Given the description of an element on the screen output the (x, y) to click on. 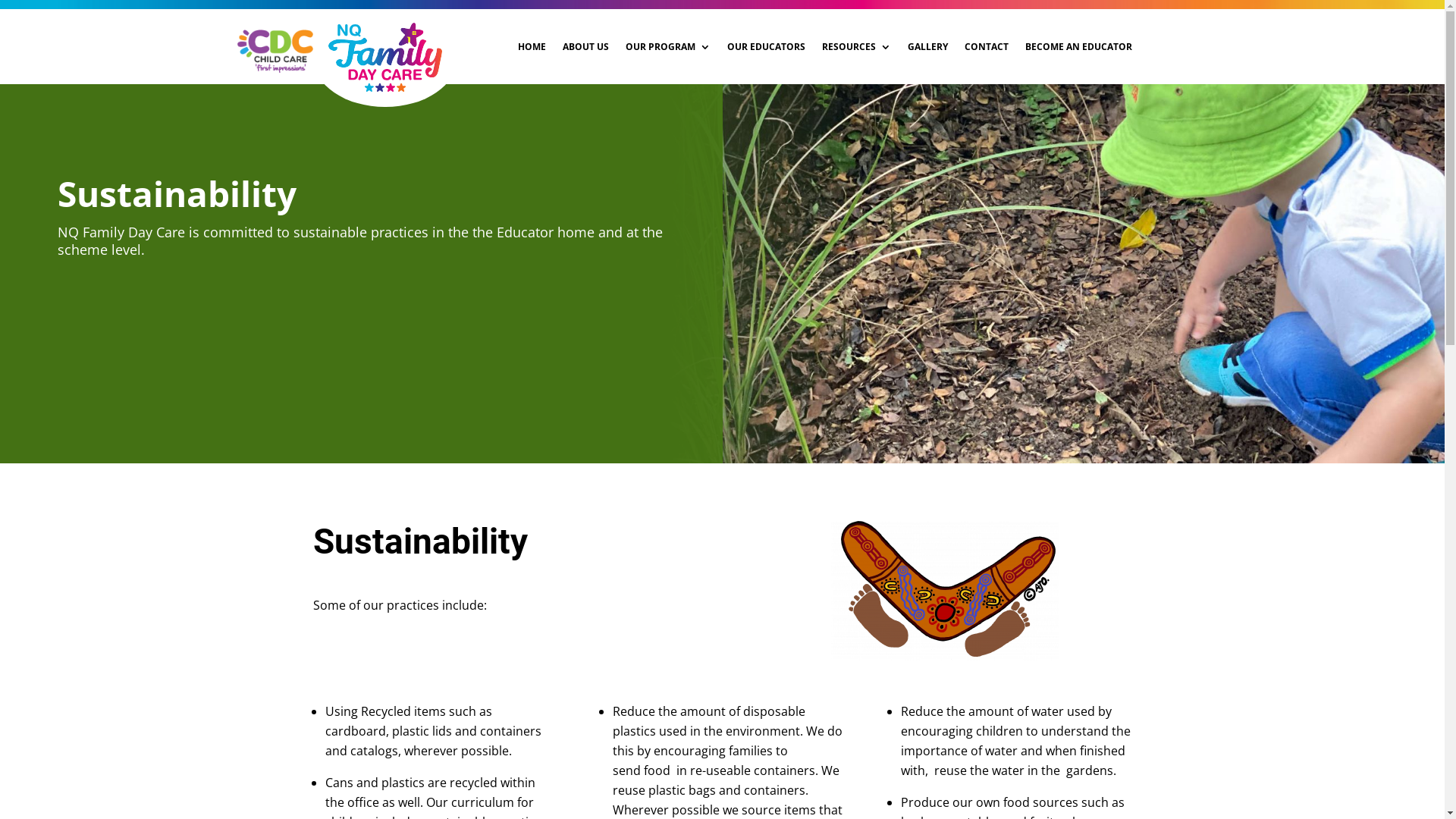
ABOUT US Element type: text (585, 46)
OUR EDUCATORS Element type: text (765, 46)
HOME Element type: text (531, 46)
BECOME AN EDUCATOR Element type: text (1078, 46)
cdc-logo Element type: hover (274, 50)
GALLERY Element type: text (926, 46)
OUR PROGRAM Element type: text (666, 46)
drawing1_rotate Element type: hover (944, 590)
Sustainability Element type: text (176, 192)
RESOURCES Element type: text (856, 46)
CONTACT Element type: text (986, 46)
